Given the description of an element on the screen output the (x, y) to click on. 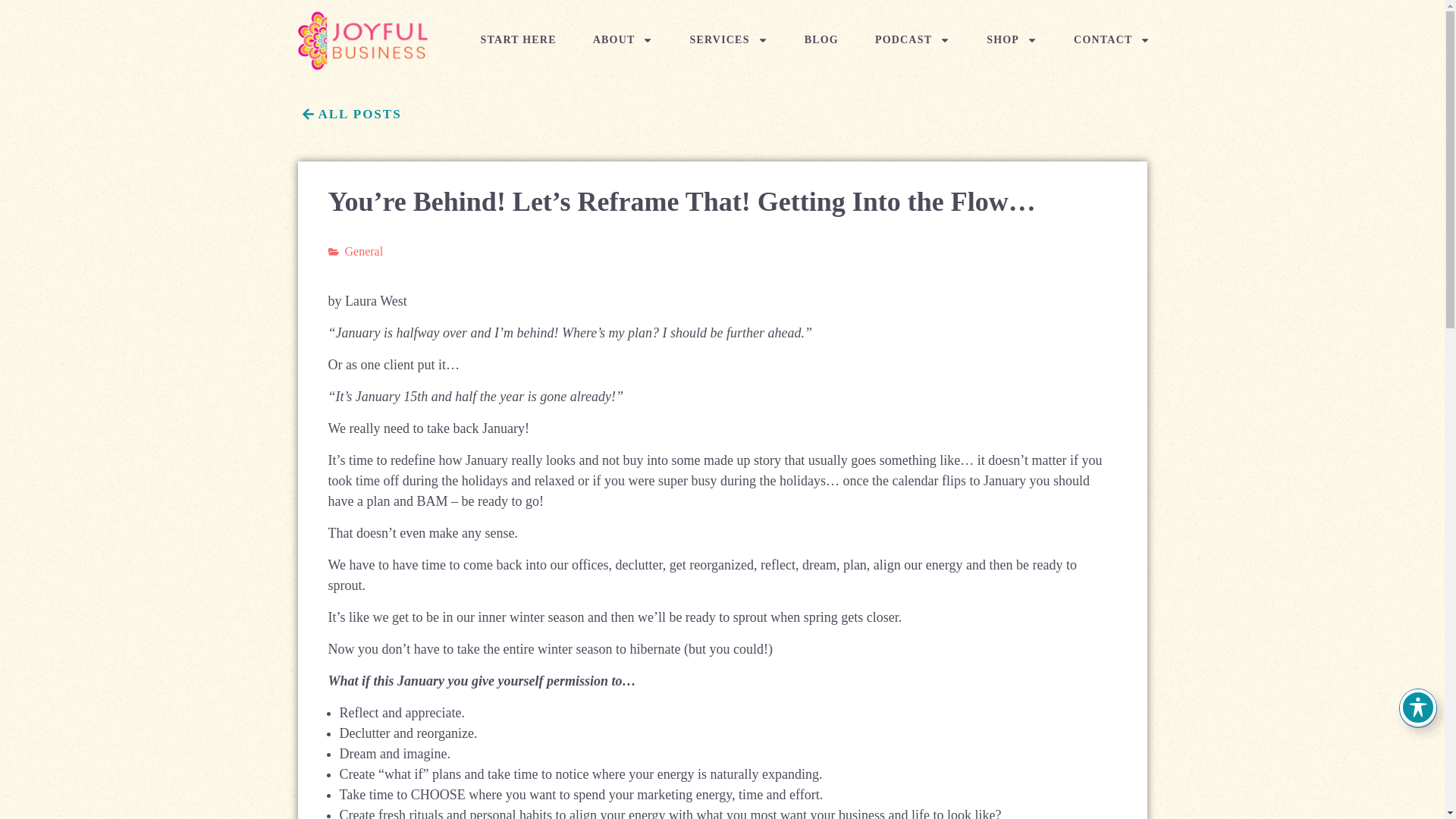
START HERE (518, 39)
SERVICES (728, 39)
SHOP (1011, 39)
BLOG (821, 39)
PODCAST (911, 39)
CONTACT (1112, 39)
ABOUT (623, 39)
